Given the description of an element on the screen output the (x, y) to click on. 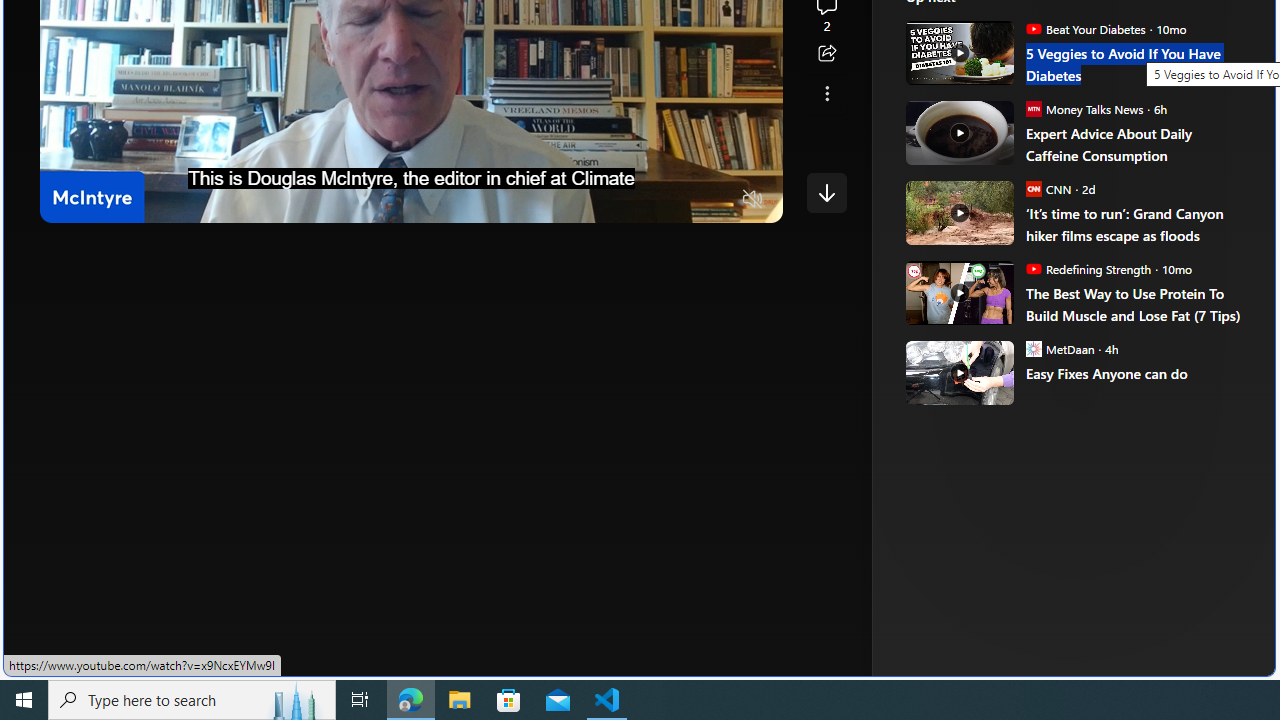
MetDaan MetDaan (1059, 348)
Quality Settings (634, 200)
Expert Advice About Daily Caffeine Consumption (958, 132)
Seek Forward (150, 200)
5 Veggies to Avoid If You Have Diabetes (958, 52)
Unmute (753, 200)
Beat Your Diabetes Beat Your Diabetes (1085, 28)
Seek Back (109, 200)
Beat Your Diabetes (1033, 28)
Money Talks News Money Talks News (1084, 108)
Fullscreen (714, 200)
